Given the description of an element on the screen output the (x, y) to click on. 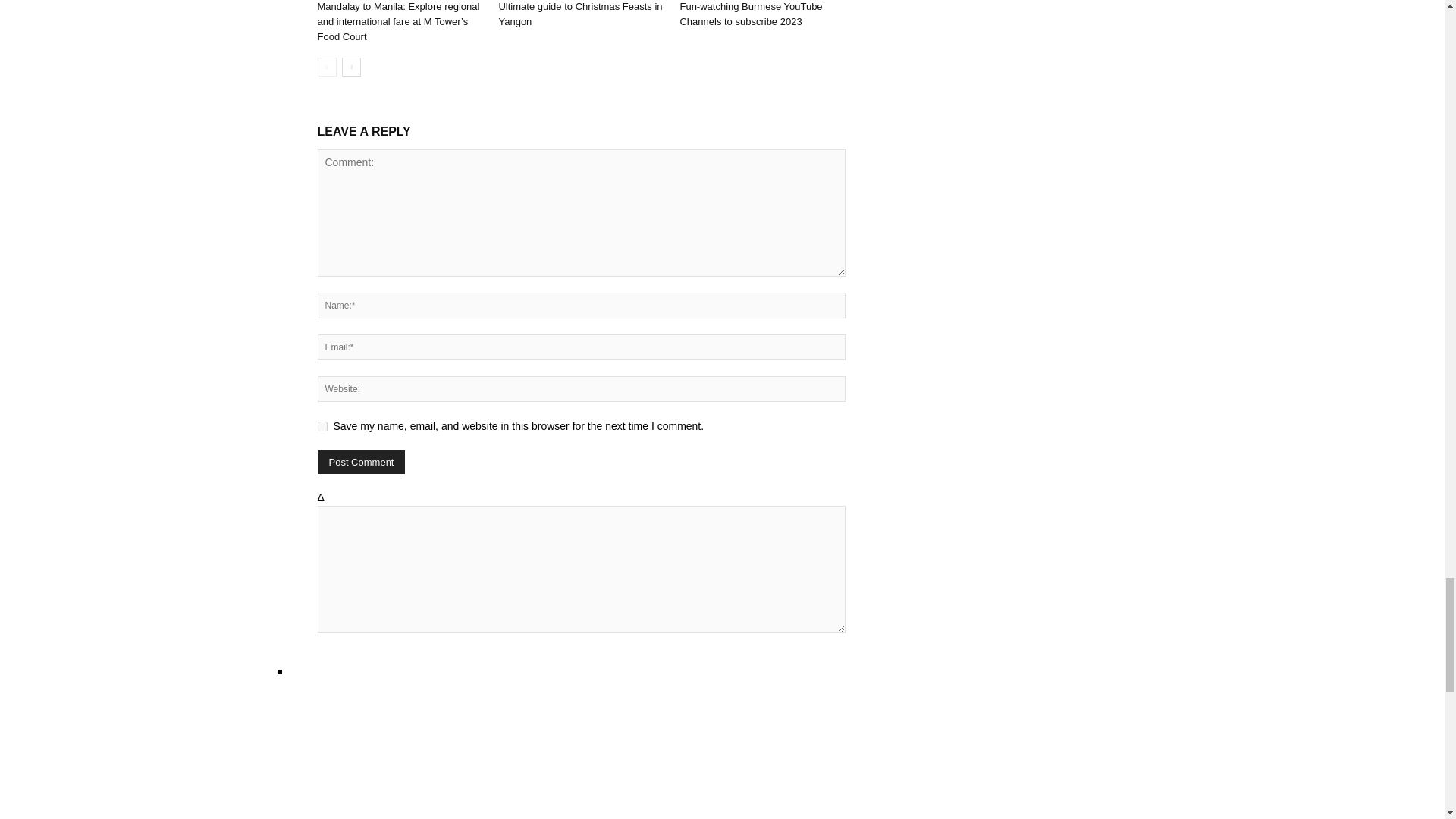
yes (321, 426)
Post Comment (360, 462)
